Given the description of an element on the screen output the (x, y) to click on. 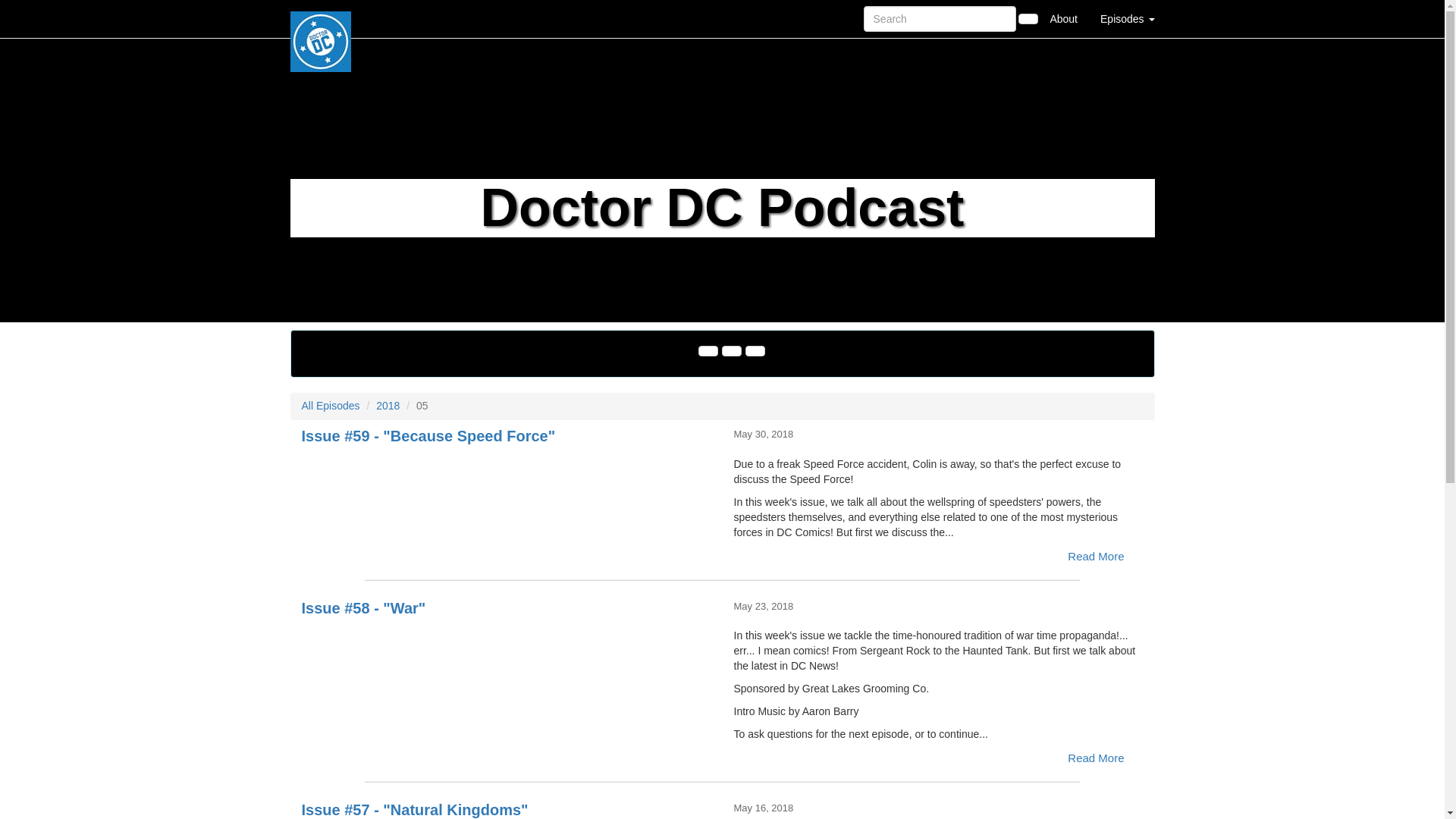
Episodes (1127, 18)
Home Page (320, 18)
About (1063, 18)
